Given the description of an element on the screen output the (x, y) to click on. 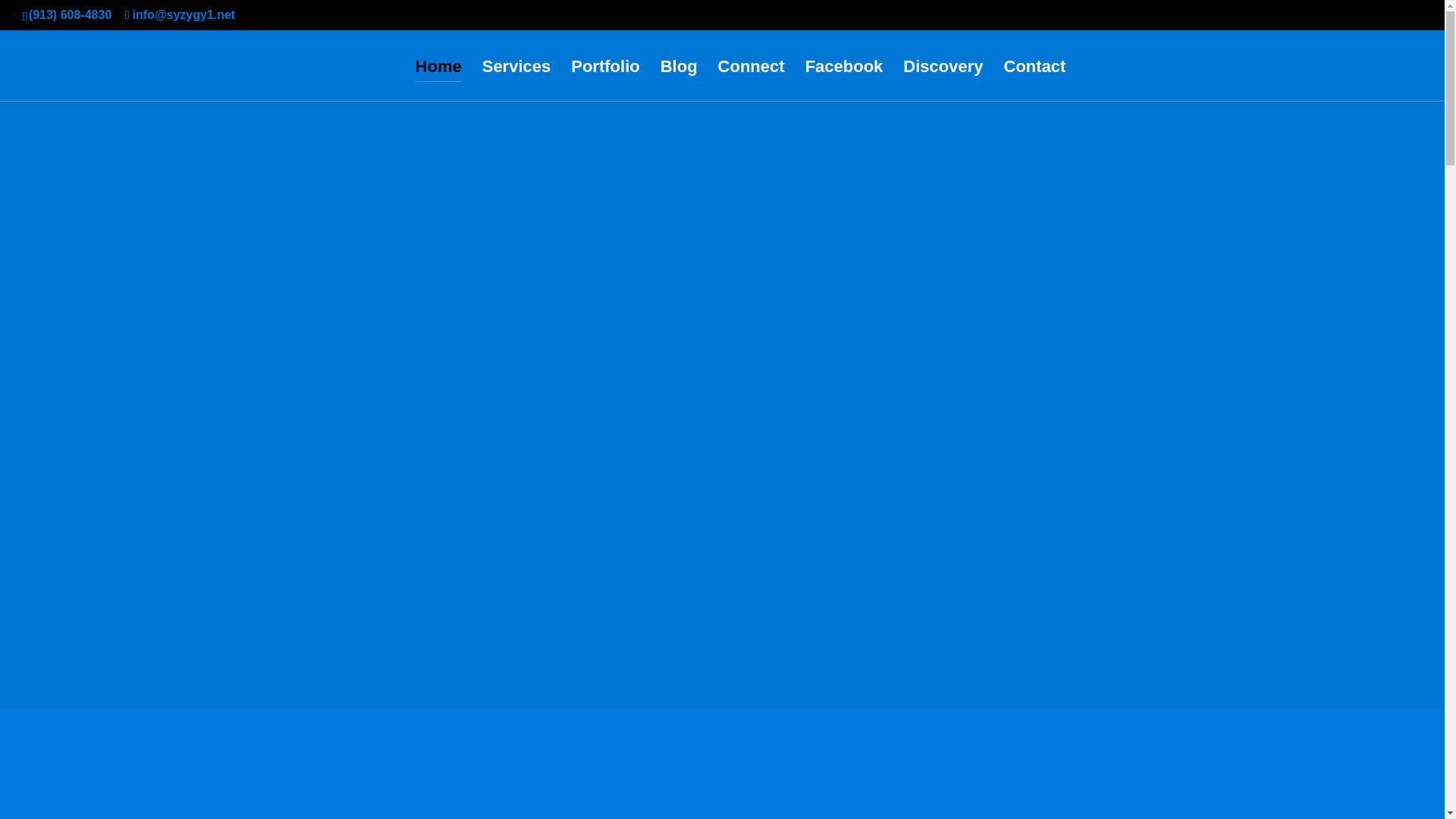
Portfolio (604, 80)
Services (516, 80)
Discovery (942, 80)
Blog (679, 80)
Connect (750, 80)
Contact (1034, 80)
Facebook (844, 80)
Home (437, 80)
